Given the description of an element on the screen output the (x, y) to click on. 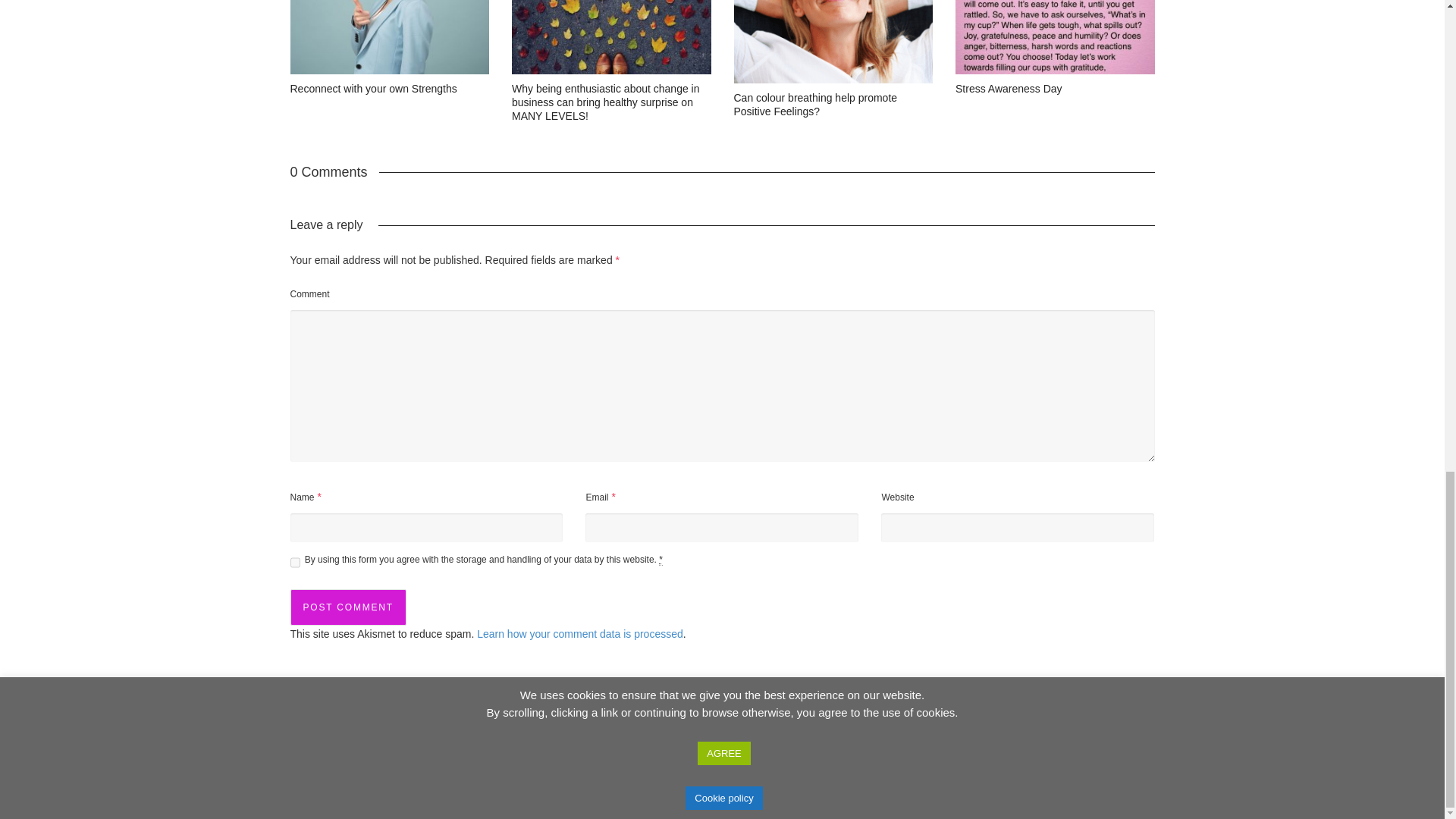
Permanent Link to Stress Awareness Day (1008, 88)
Permanent Link to Reconnect with your own Strengths (373, 88)
Hypnotherapy Treatments (889, 797)
Post comment (347, 606)
